Given the description of an element on the screen output the (x, y) to click on. 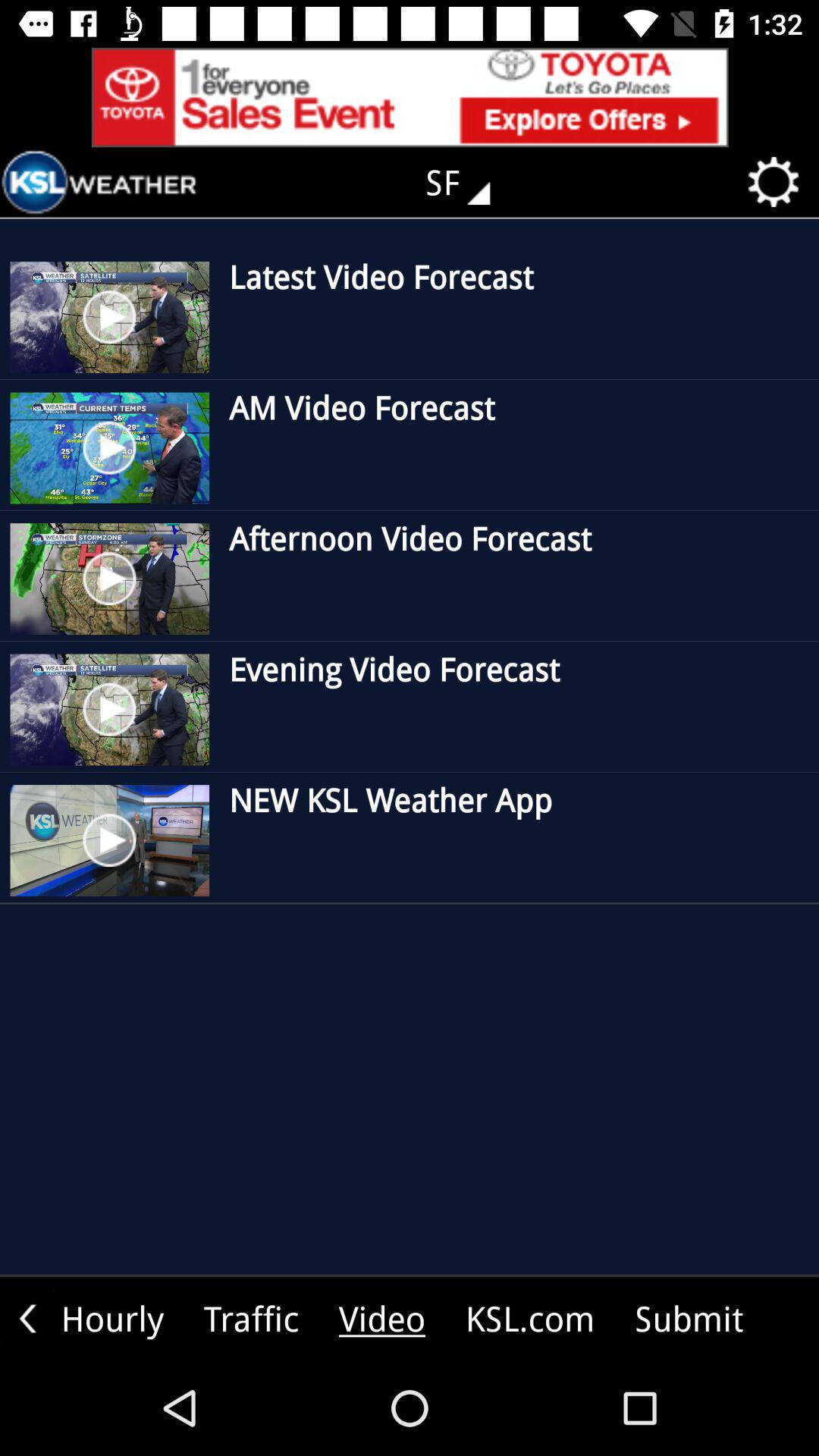
go back to main page (99, 182)
